Given the description of an element on the screen output the (x, y) to click on. 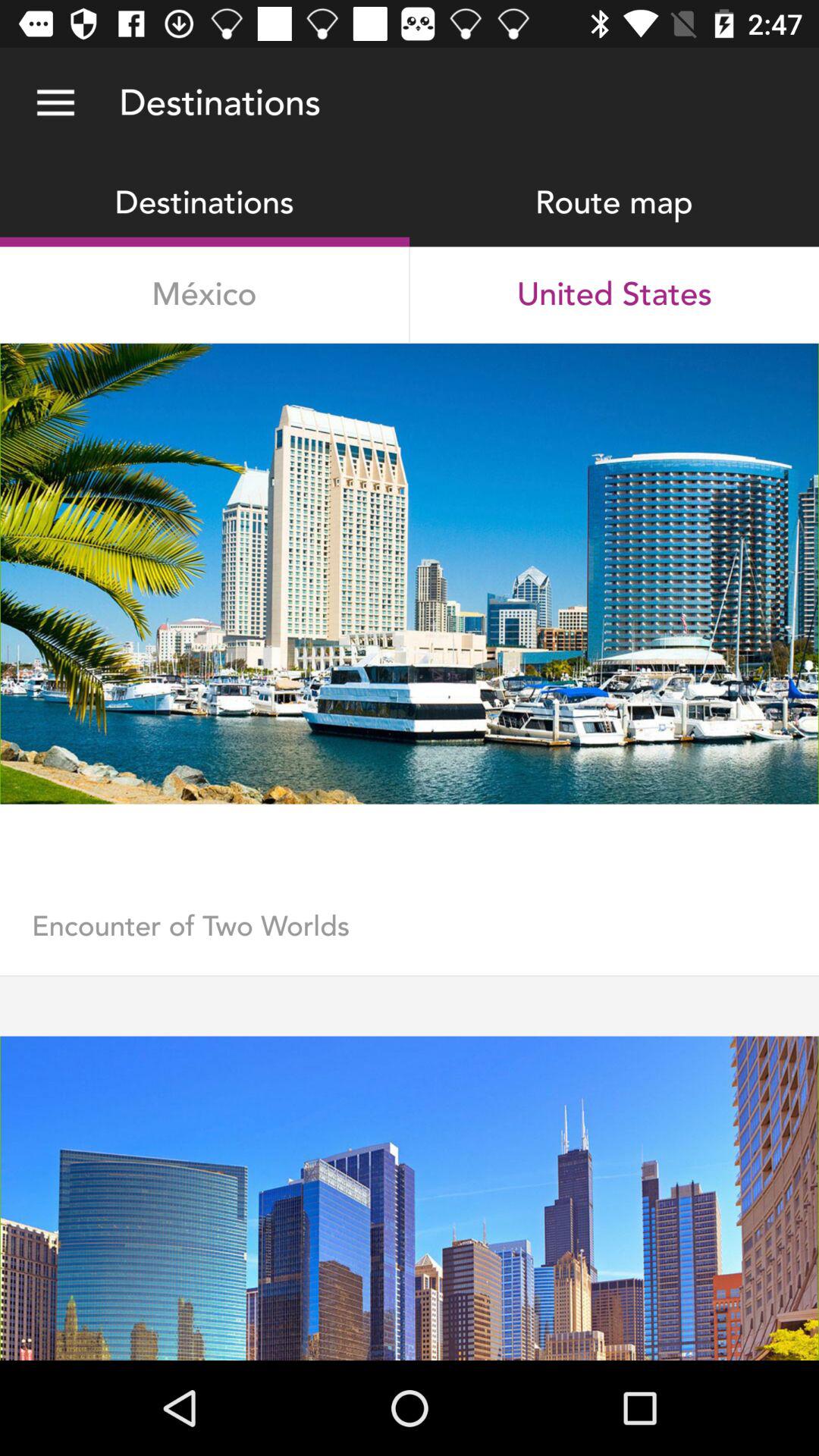
choose the icon below destinations (204, 294)
